Given the description of an element on the screen output the (x, y) to click on. 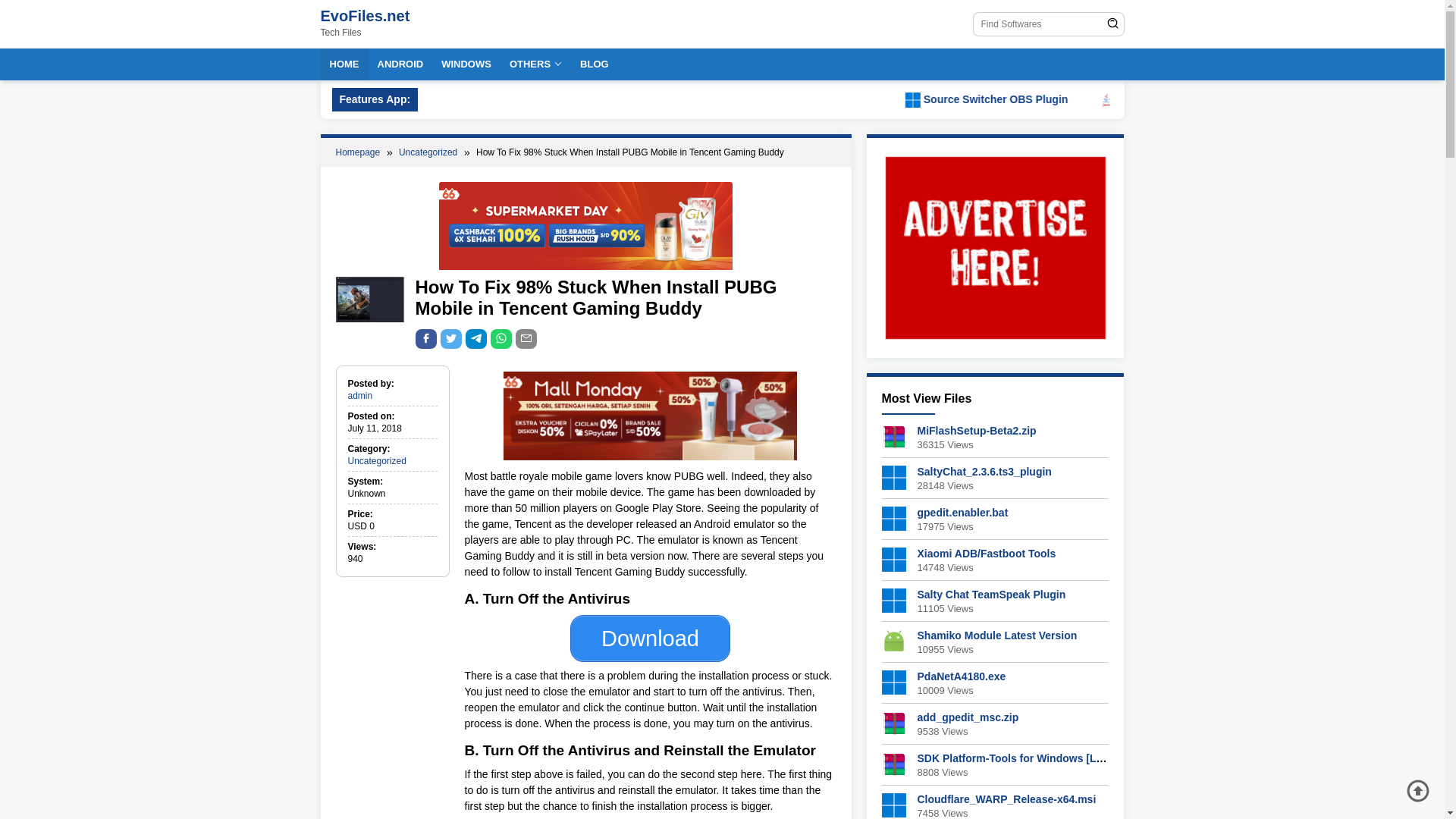
Source Switcher OBS Plugin (1178, 99)
admin (359, 395)
java-logo-1 (1289, 99)
Uncategorized (376, 460)
EvoFiles.net (364, 15)
HOME (344, 64)
BLOG (593, 64)
Homepage (357, 152)
ANDROID (400, 64)
EvoFiles.net (364, 15)
Download (650, 638)
Source Switcher OBS Plugin (1240, 99)
WINDOWS (466, 64)
Uncategorized (429, 152)
